Given the description of an element on the screen output the (x, y) to click on. 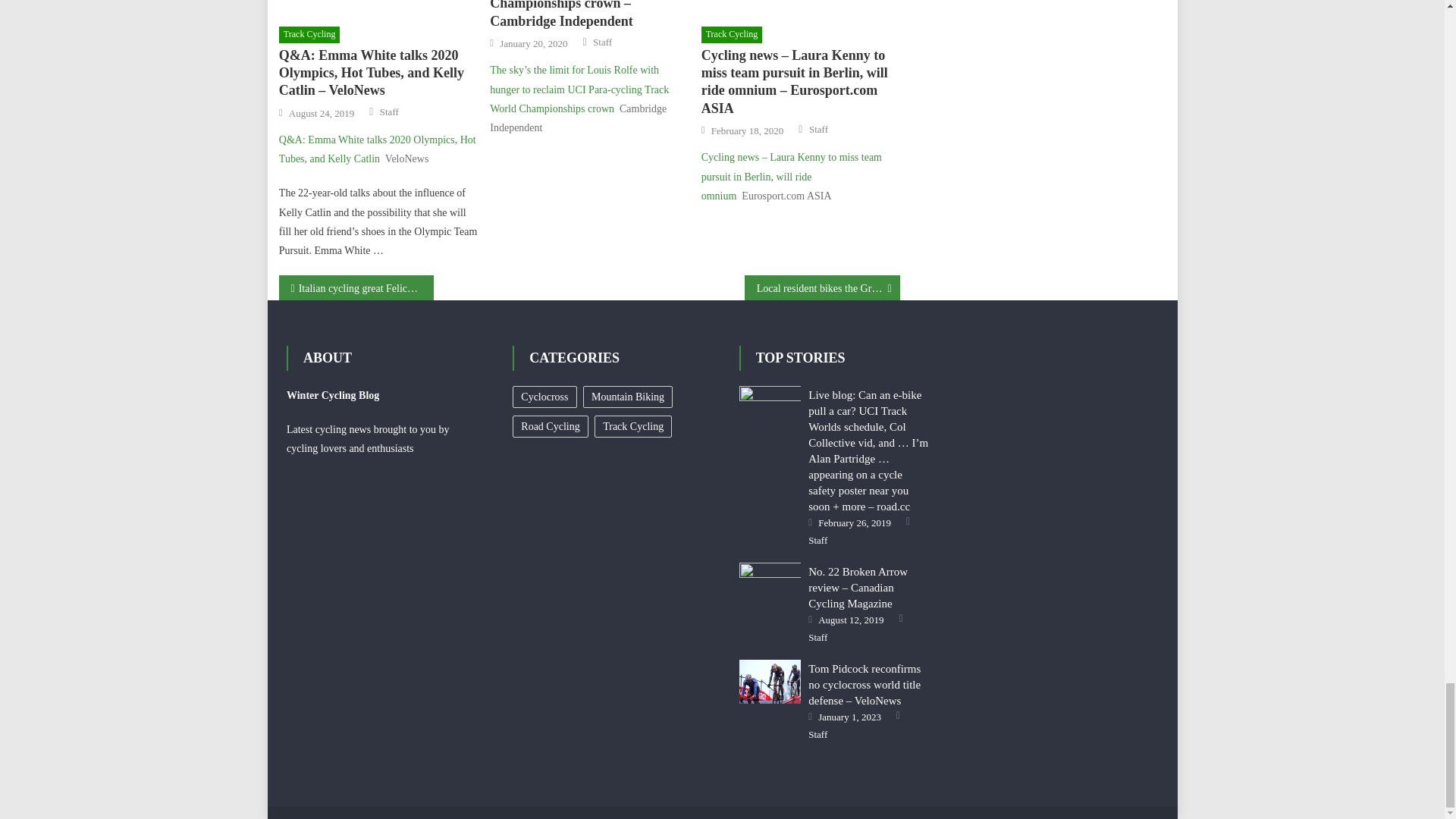
Track Cycling (309, 34)
Staff (389, 111)
Track Cycling (731, 34)
August 24, 2019 (320, 113)
Staff (601, 42)
January 20, 2020 (533, 43)
